Given the description of an element on the screen output the (x, y) to click on. 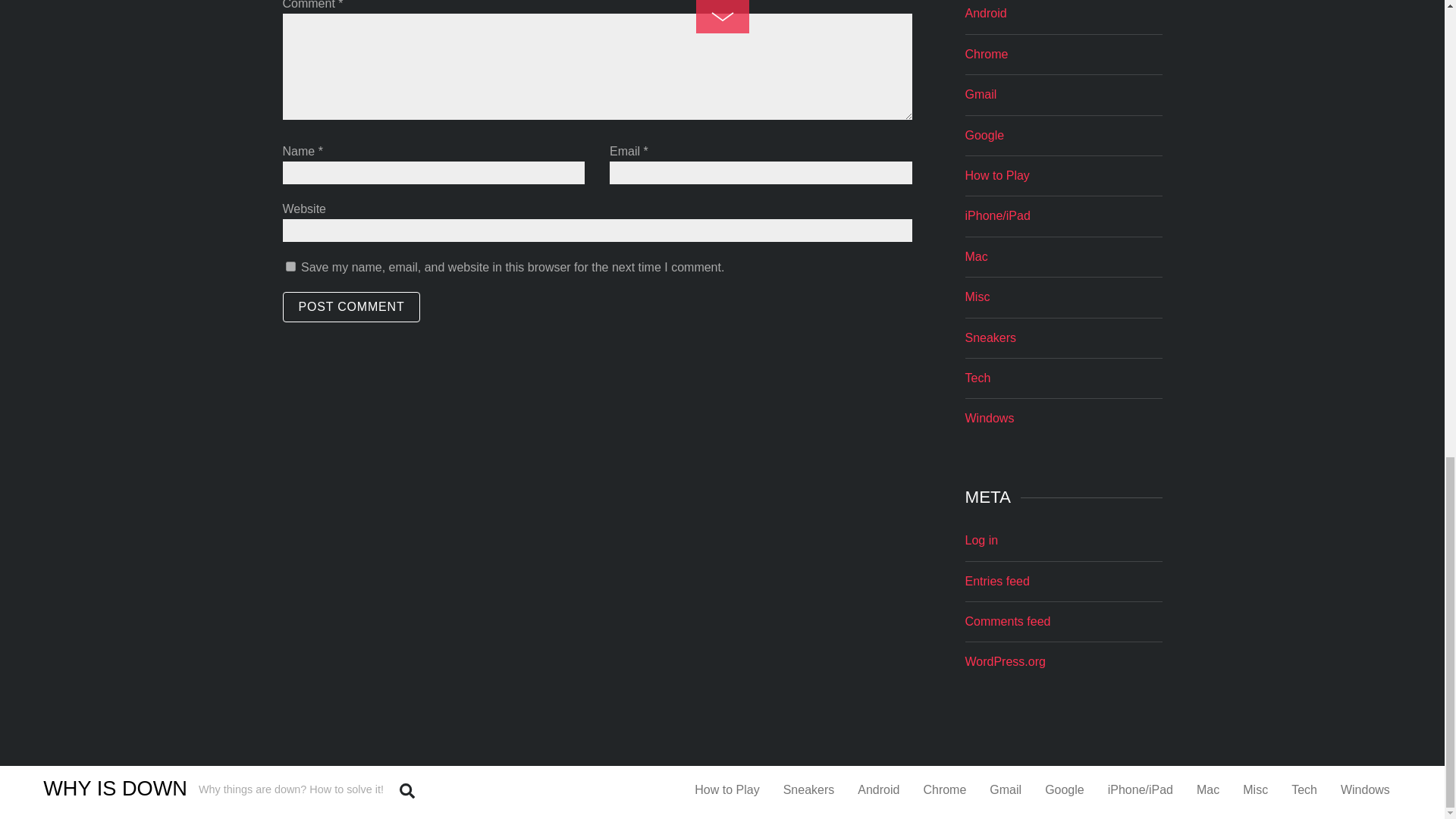
Gmail (979, 93)
Post Comment (351, 306)
Chrome (985, 53)
Android (984, 12)
yes (290, 266)
Post Comment (351, 306)
